Given the description of an element on the screen output the (x, y) to click on. 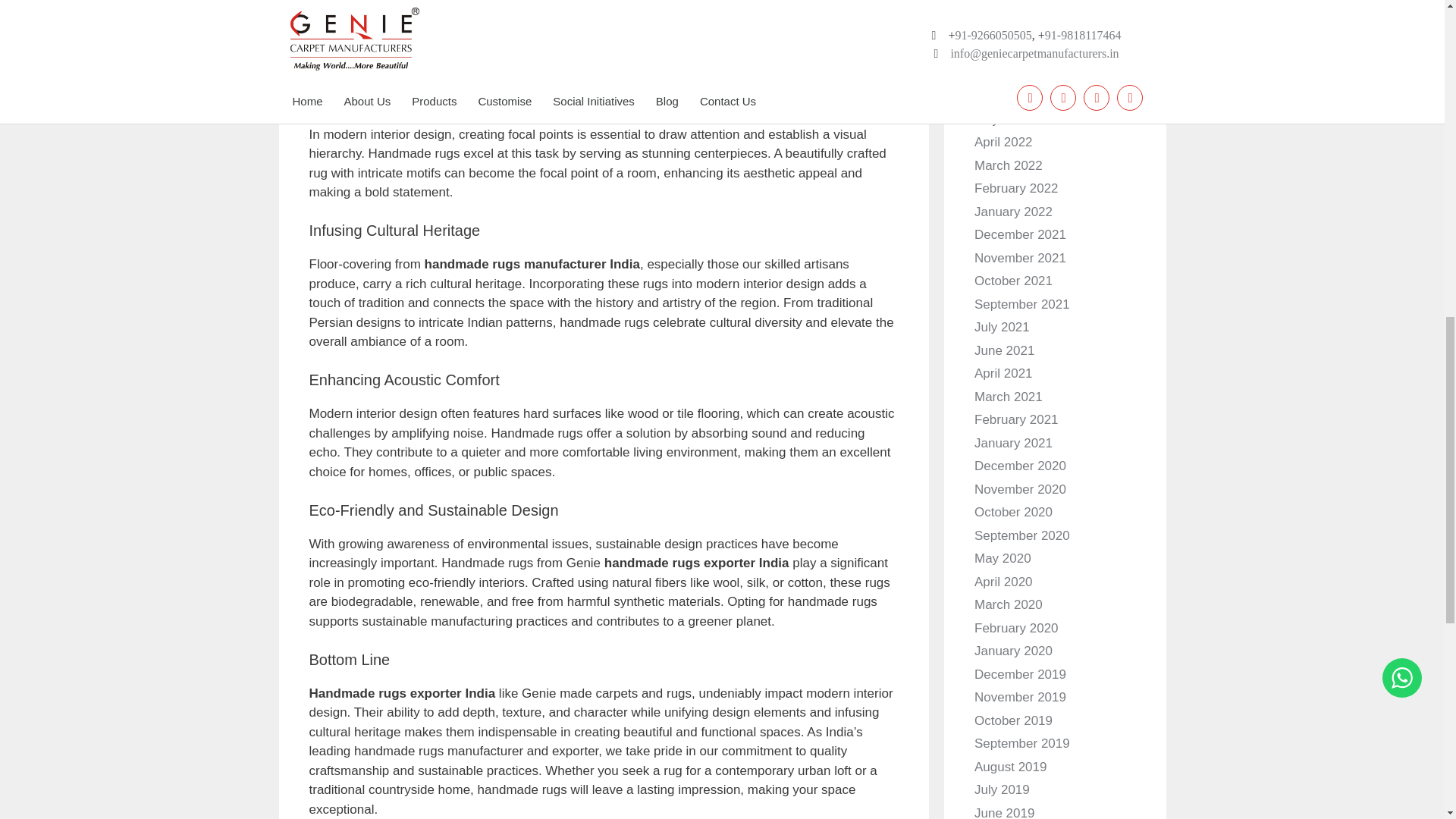
Scroll back to top (1406, 690)
